Given the description of an element on the screen output the (x, y) to click on. 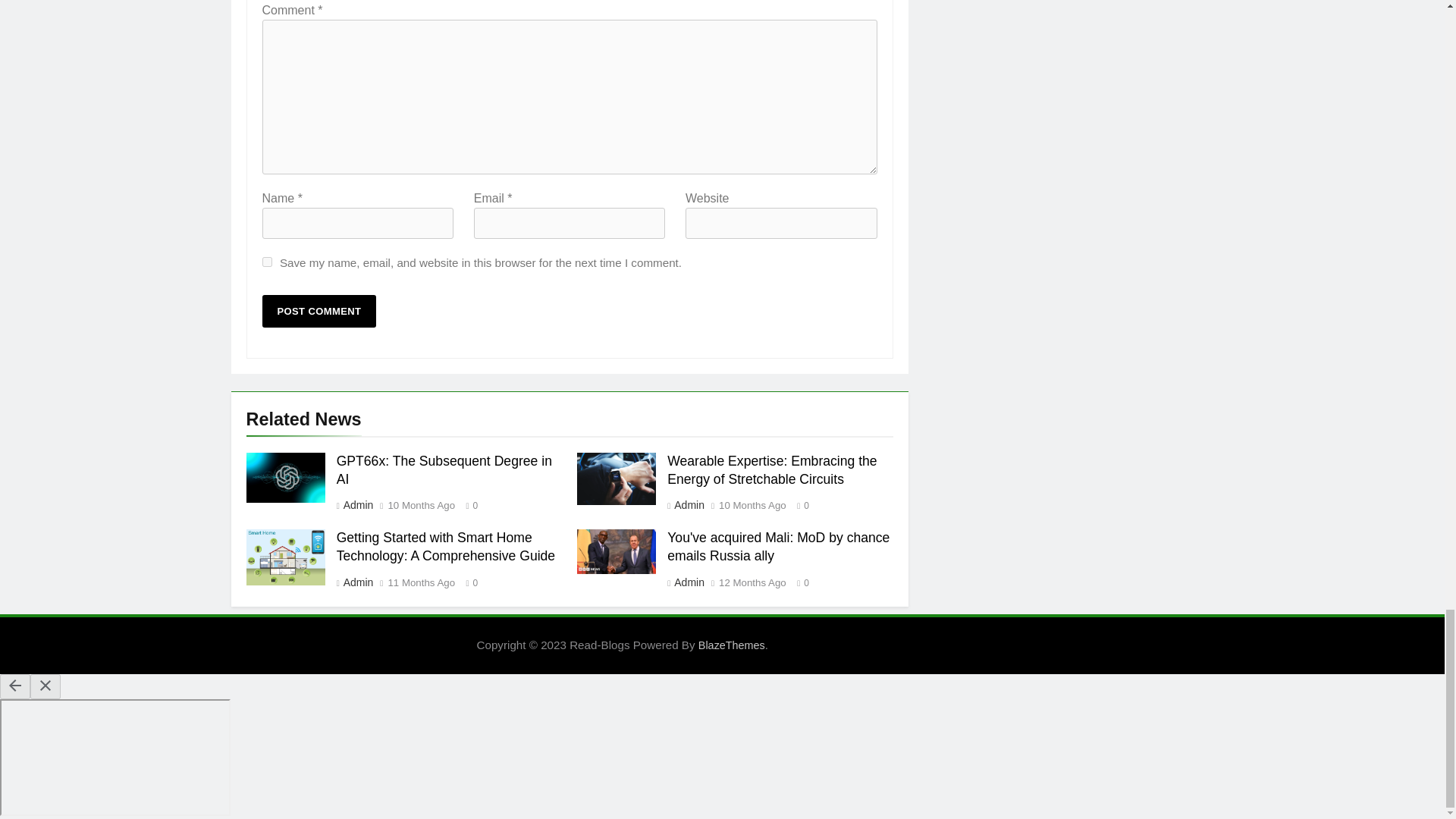
yes (267, 261)
Post Comment (319, 310)
